Given the description of an element on the screen output the (x, y) to click on. 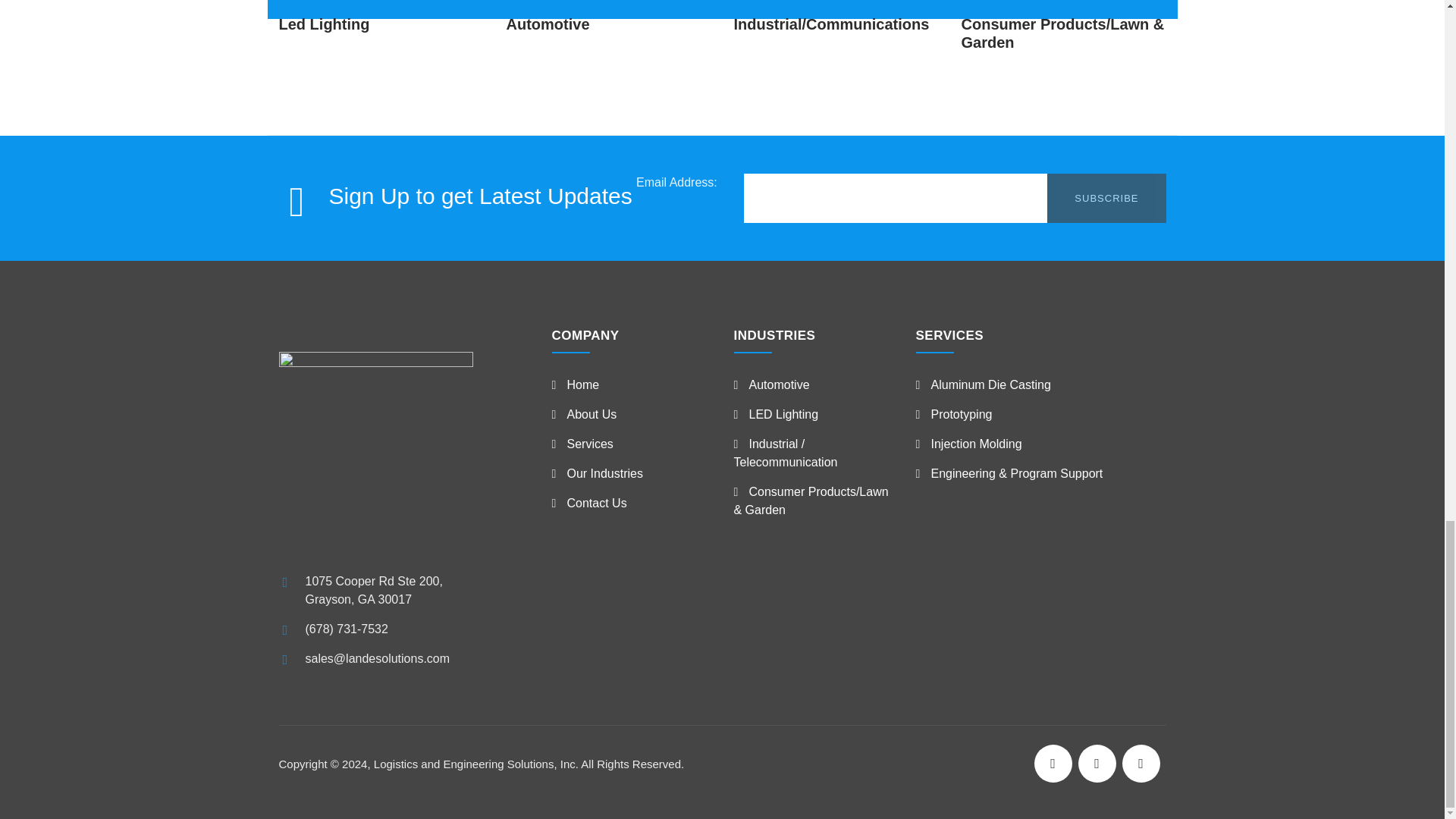
Contact Us (589, 502)
Led Lighting (324, 23)
Services (581, 443)
Automotive (547, 23)
Our Industries (597, 472)
About Us (584, 413)
Home (575, 384)
SUBSCRIBE (1106, 197)
